Given the description of an element on the screen output the (x, y) to click on. 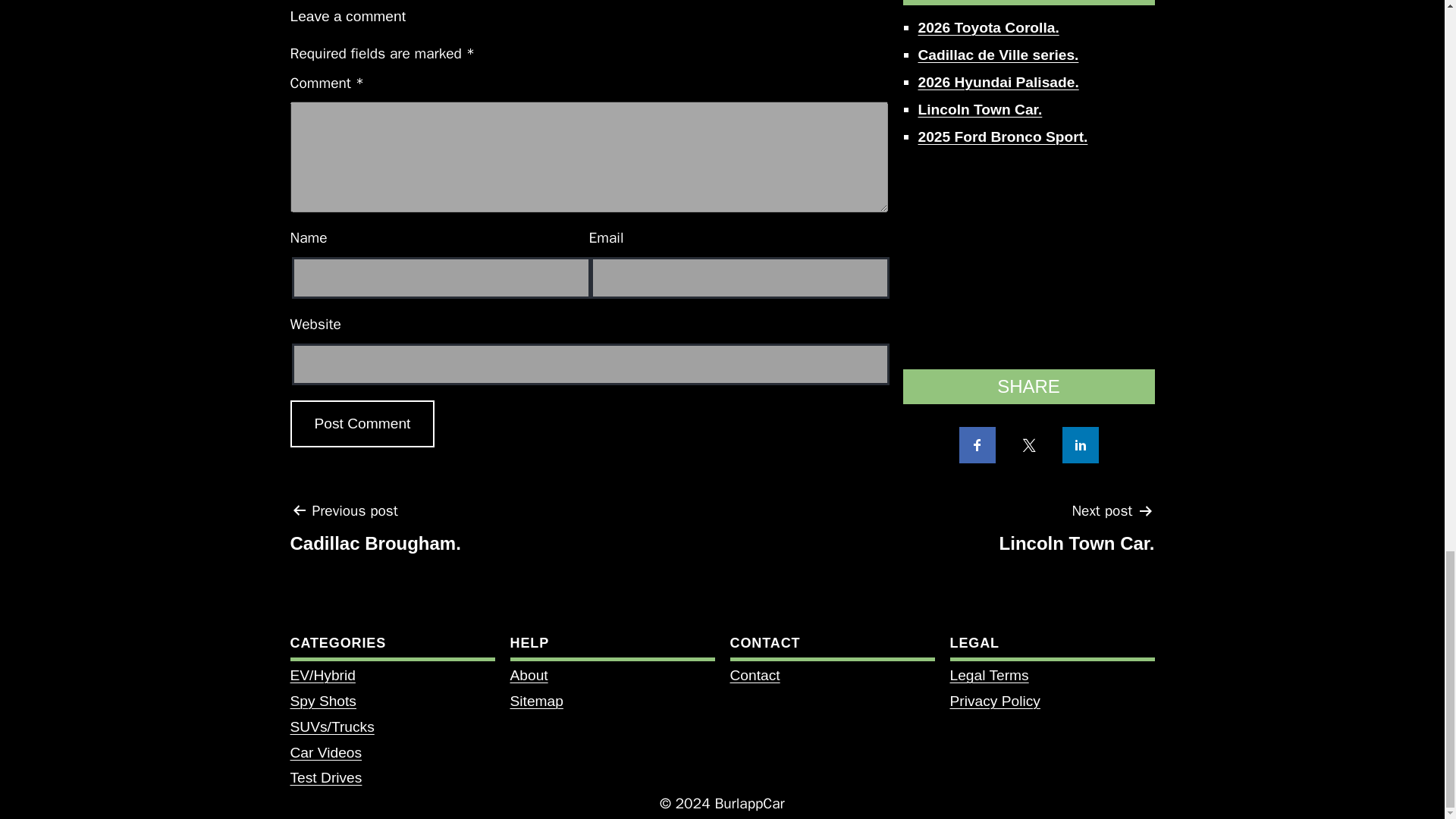
Spy Shots (322, 700)
Post Comment (361, 423)
About (528, 675)
Legal Terms (988, 675)
Post Comment (361, 423)
Test Drives (325, 777)
Contact (753, 675)
Car Videos (1076, 532)
